Given the description of an element on the screen output the (x, y) to click on. 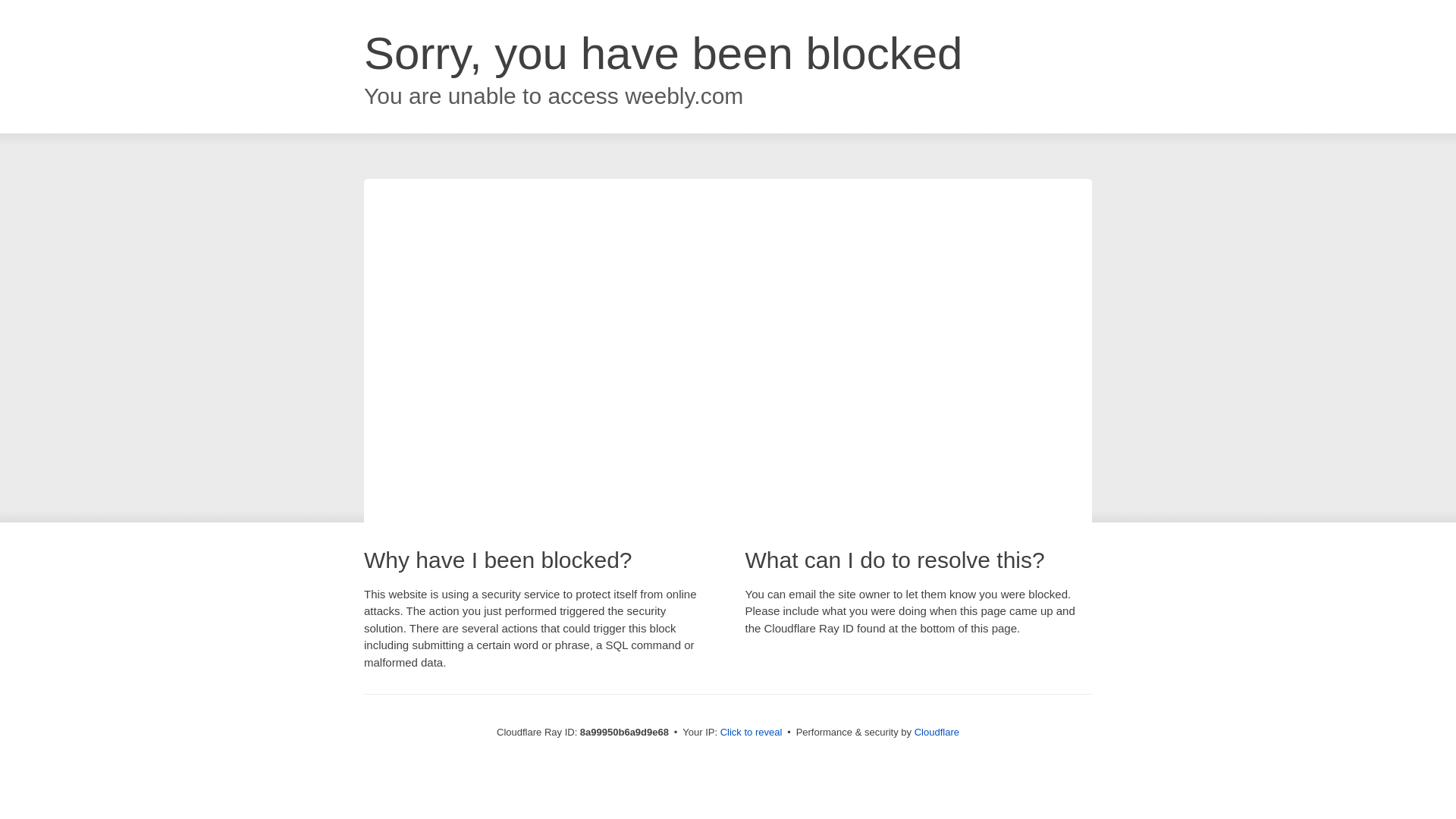
Cloudflare (936, 731)
Click to reveal (751, 732)
